Given the description of an element on the screen output the (x, y) to click on. 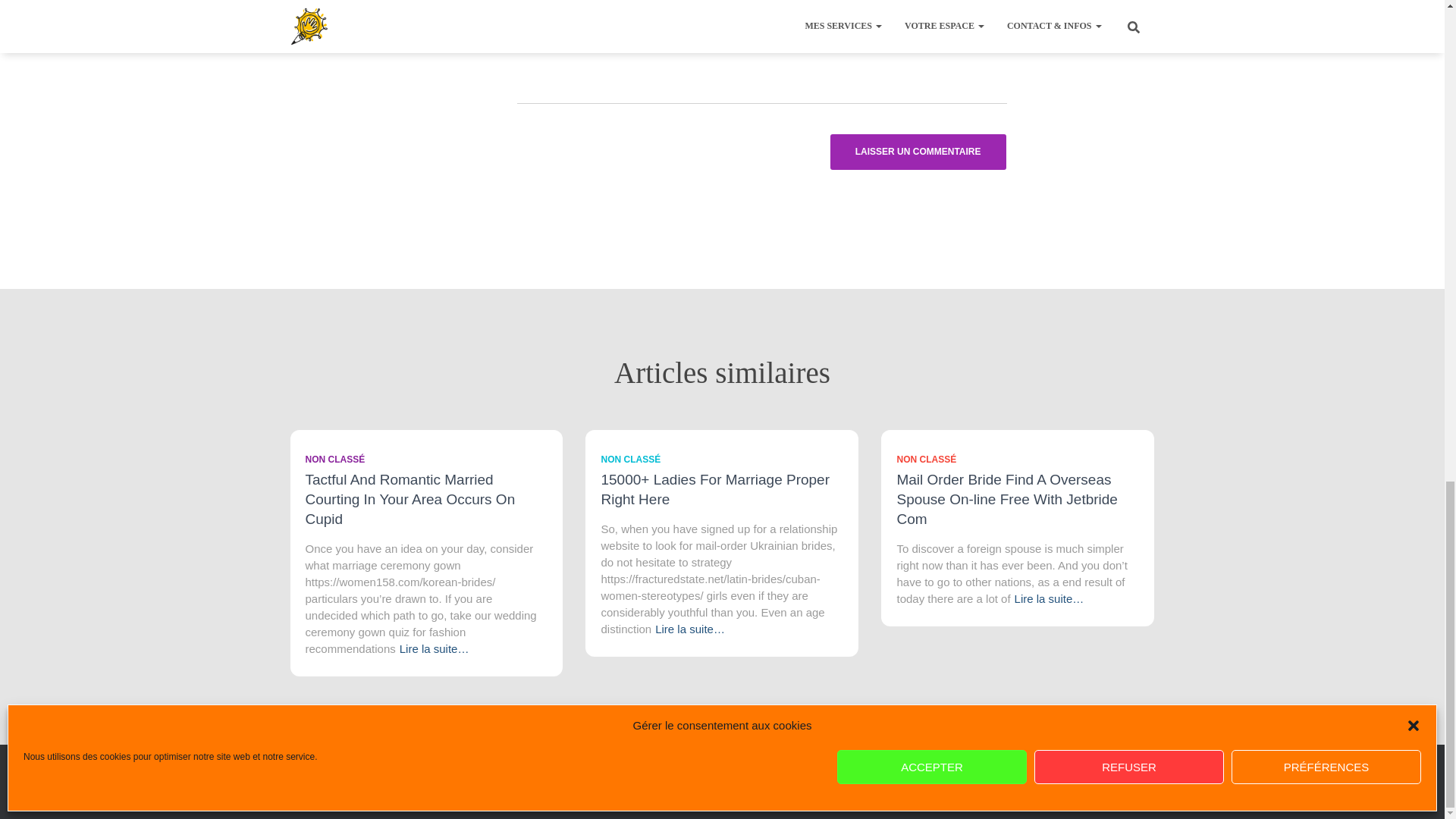
REFUSER (1128, 6)
Laisser un commentaire (917, 151)
ACCEPTER (931, 6)
